Given the description of an element on the screen output the (x, y) to click on. 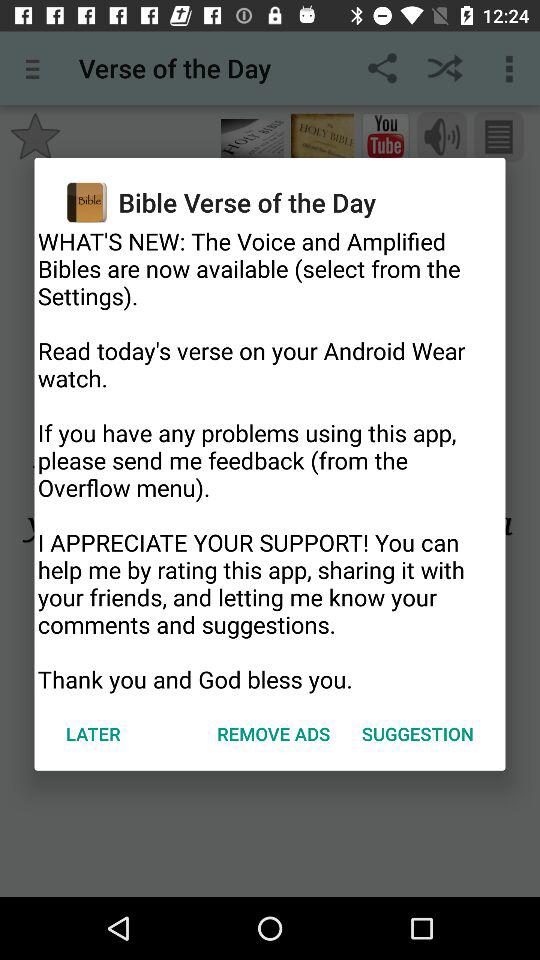
click the icon next to the suggestion item (273, 733)
